Given the description of an element on the screen output the (x, y) to click on. 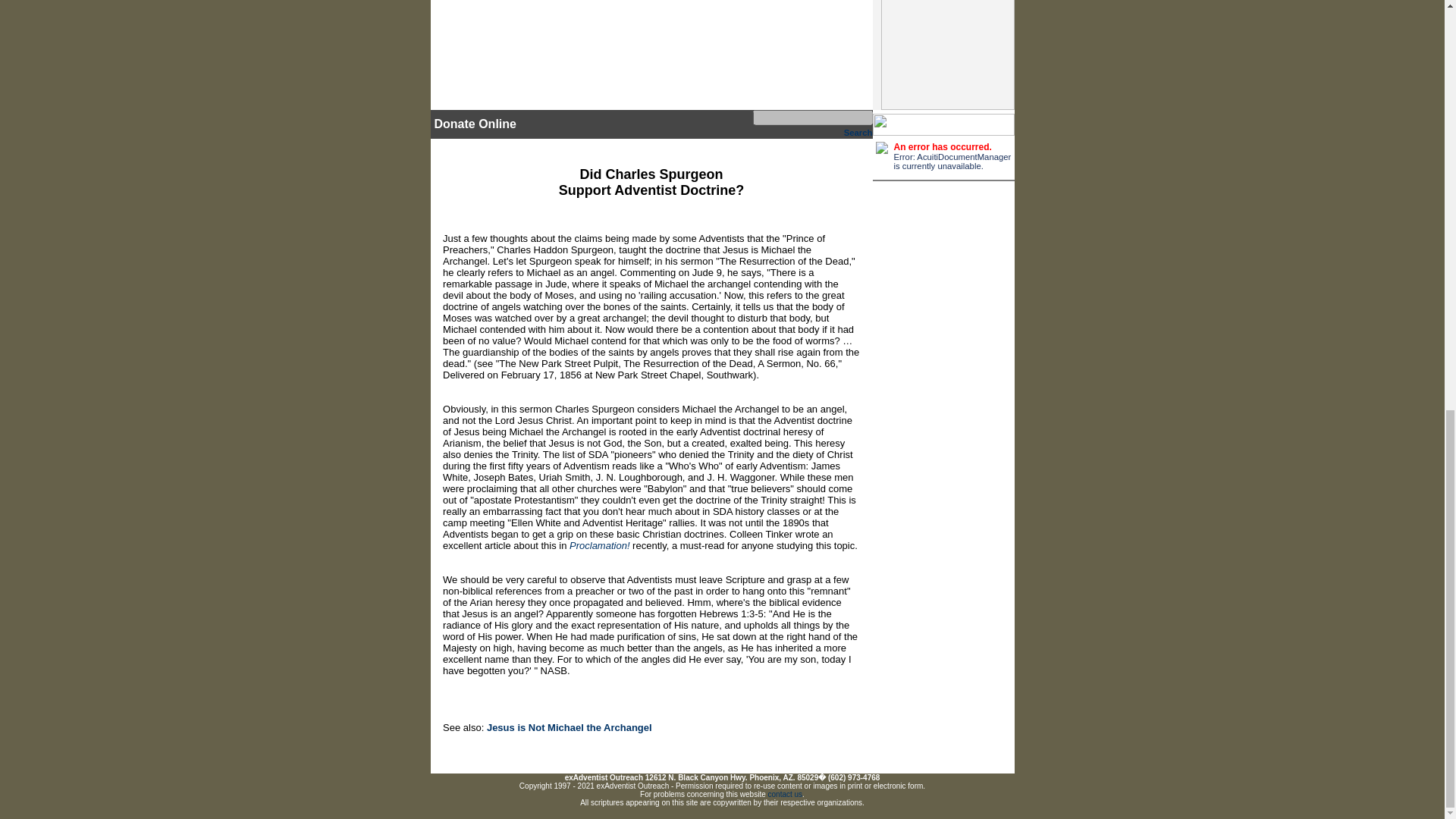
Donate Online (474, 123)
Proclamation! (598, 545)
contact us (785, 794)
Search (858, 132)
Jesus is Not Michael the Archangel (569, 727)
